Given the description of an element on the screen output the (x, y) to click on. 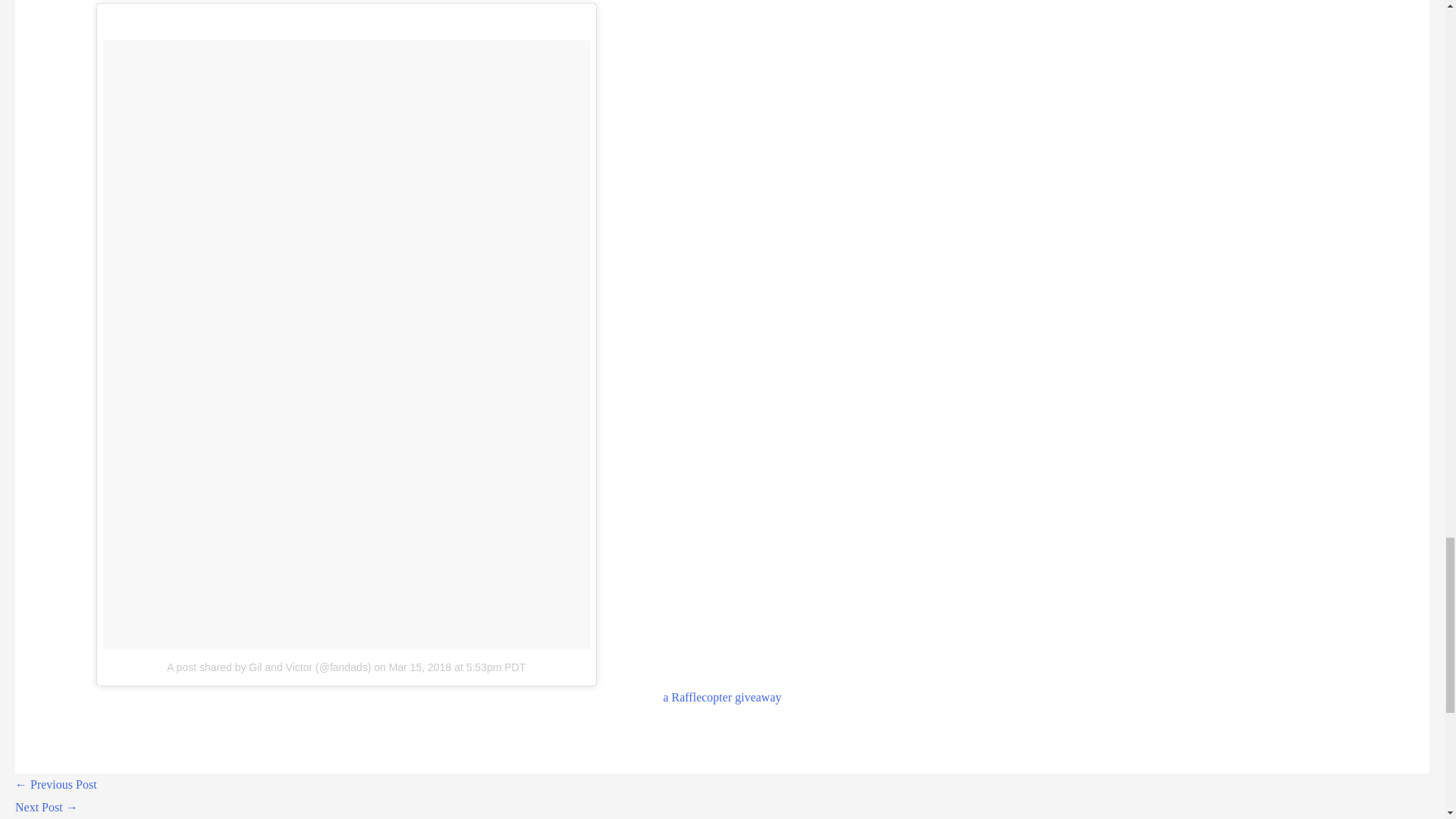
A New Solo: A Star Wars Story Trailer has been released (46, 807)
Getting Ready for Ready Player One (55, 784)
